Given the description of an element on the screen output the (x, y) to click on. 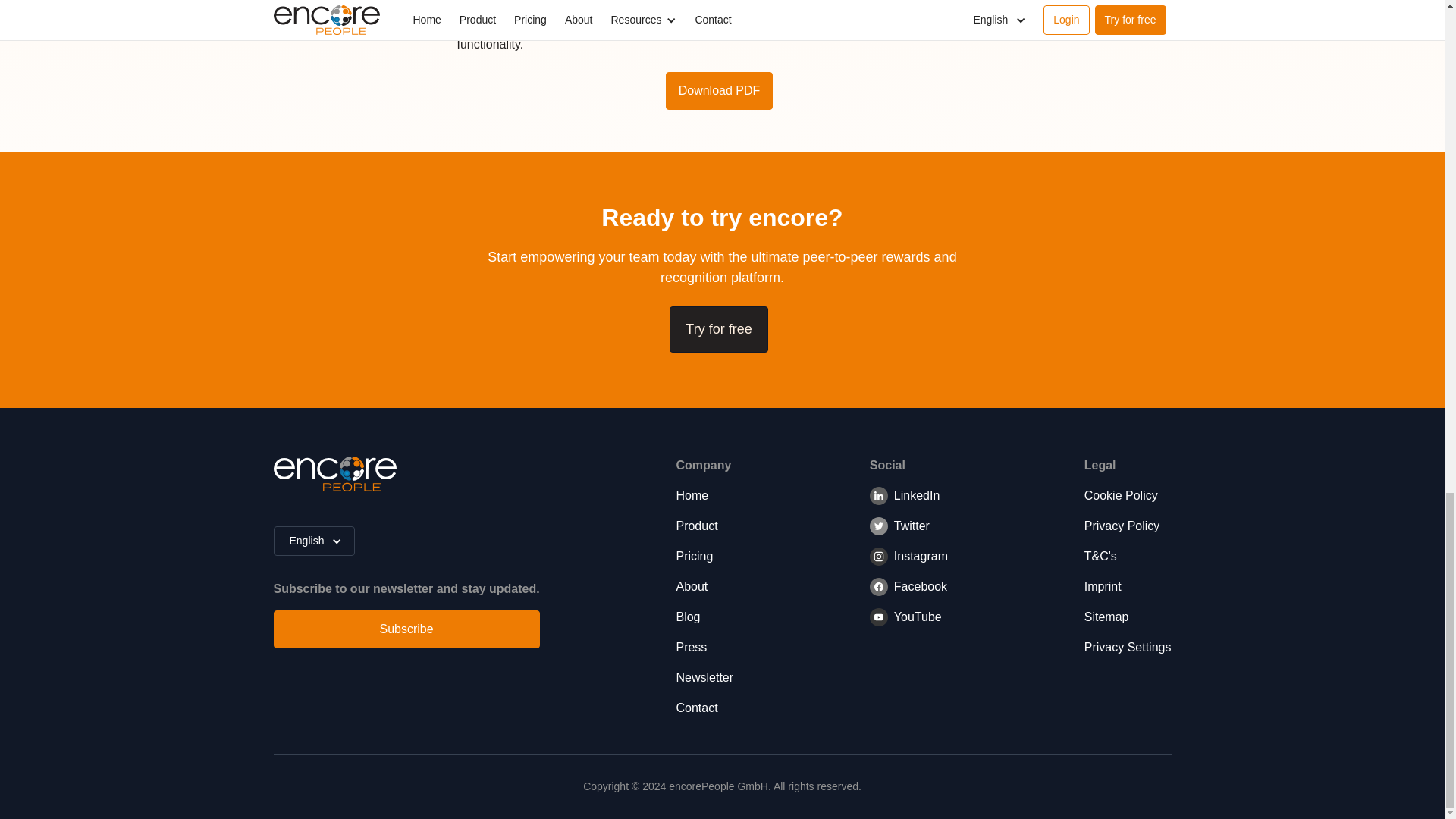
Imprint (1128, 587)
Contact (704, 708)
Press (704, 647)
Pricing (704, 556)
LinkedIn (904, 501)
Blog (704, 617)
Facebook (908, 593)
Try for free (718, 329)
Instagram (908, 562)
Cookie Policy (1128, 495)
Sitemap (1128, 617)
Home (704, 495)
YouTube (905, 623)
Twitter (899, 531)
Subscribe (405, 629)
